Given the description of an element on the screen output the (x, y) to click on. 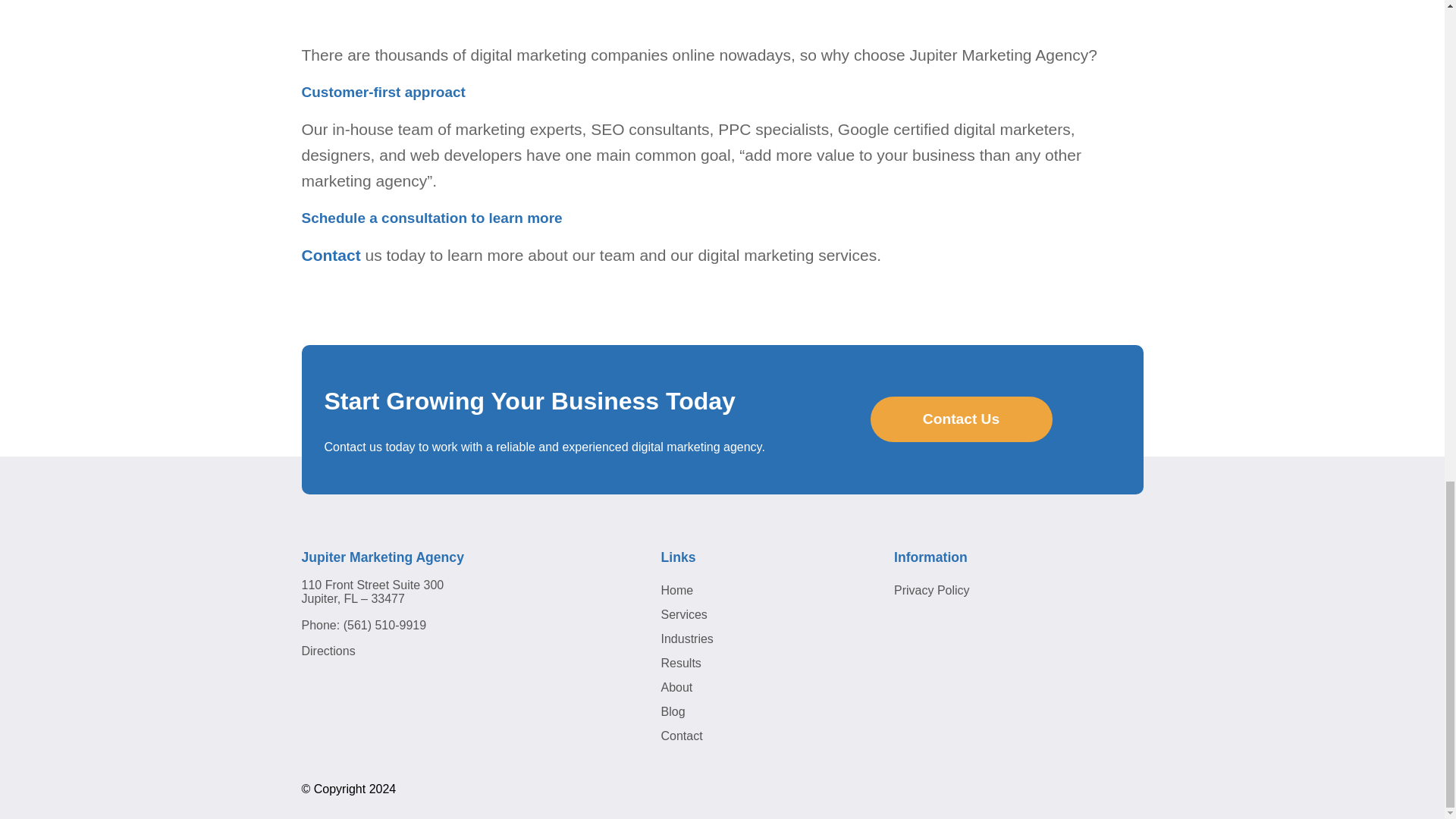
About (677, 686)
Services (684, 614)
Contact (331, 254)
Results (681, 662)
Directions (328, 650)
Home (677, 590)
Contact Us (961, 419)
Industries (687, 638)
Privacy Policy (931, 590)
Blog (673, 711)
Contact (682, 735)
